Given the description of an element on the screen output the (x, y) to click on. 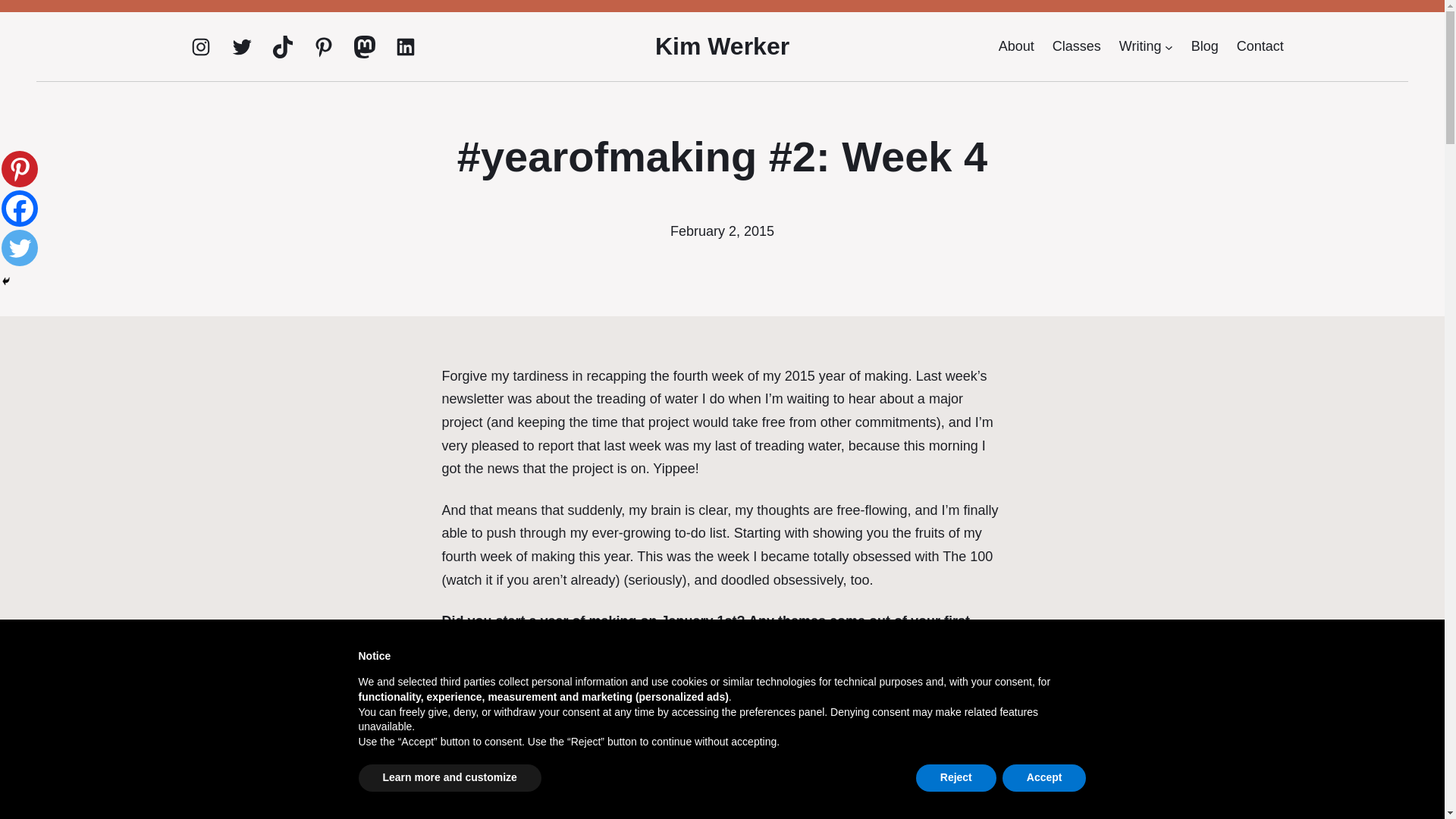
Twitter (241, 47)
Hide (5, 281)
Mastodon (364, 47)
About (1015, 46)
TikTok (282, 47)
LinkedIn (405, 47)
Ebook: Year of Making (774, 644)
Contact (1260, 46)
The 100 (967, 556)
Pinterest (19, 168)
Classes (1076, 46)
Facebook (19, 208)
Writing (1140, 46)
Twitter (19, 248)
Blog (1204, 46)
